Given the description of an element on the screen output the (x, y) to click on. 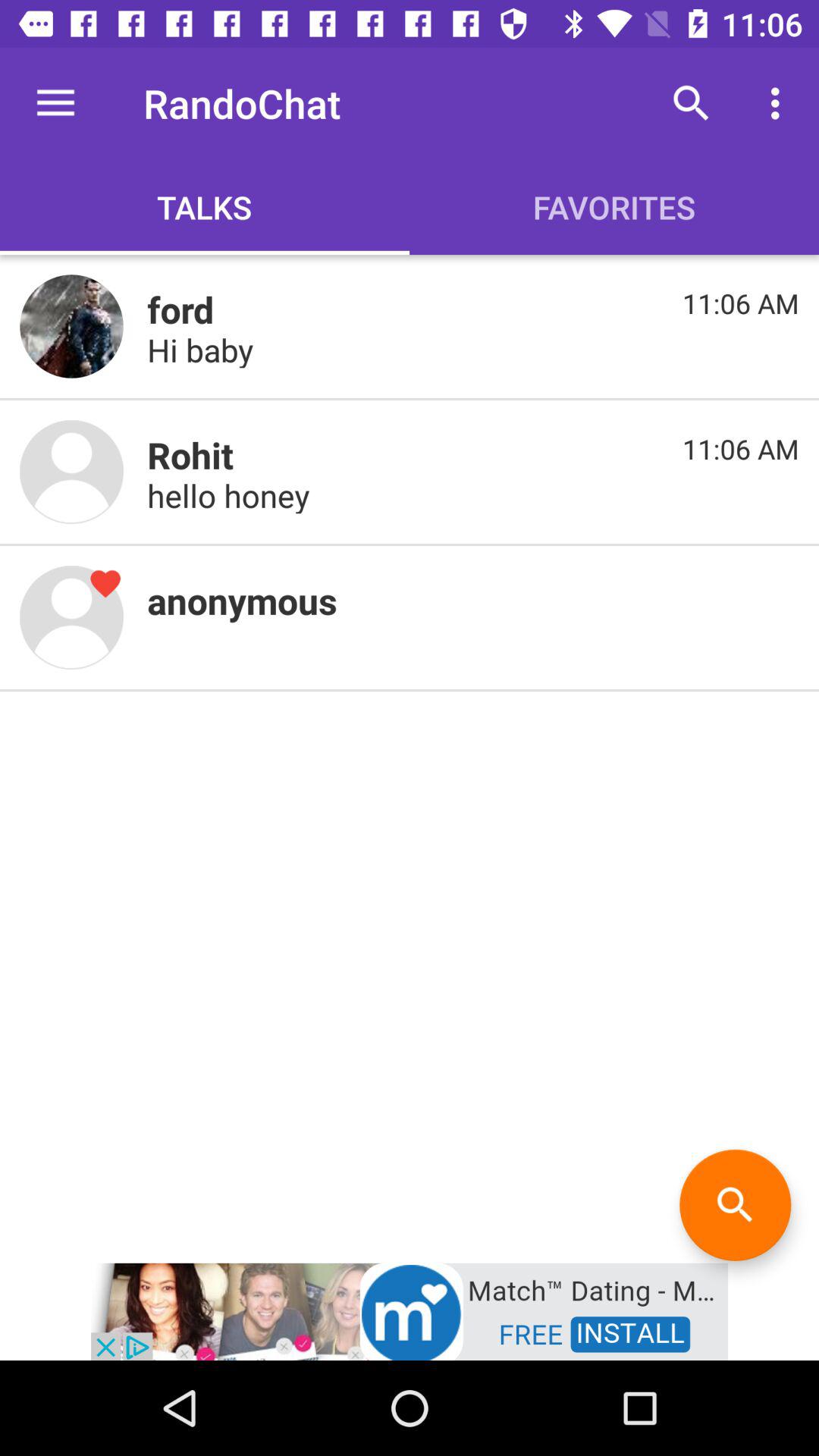
go to profile (71, 326)
